Given the description of an element on the screen output the (x, y) to click on. 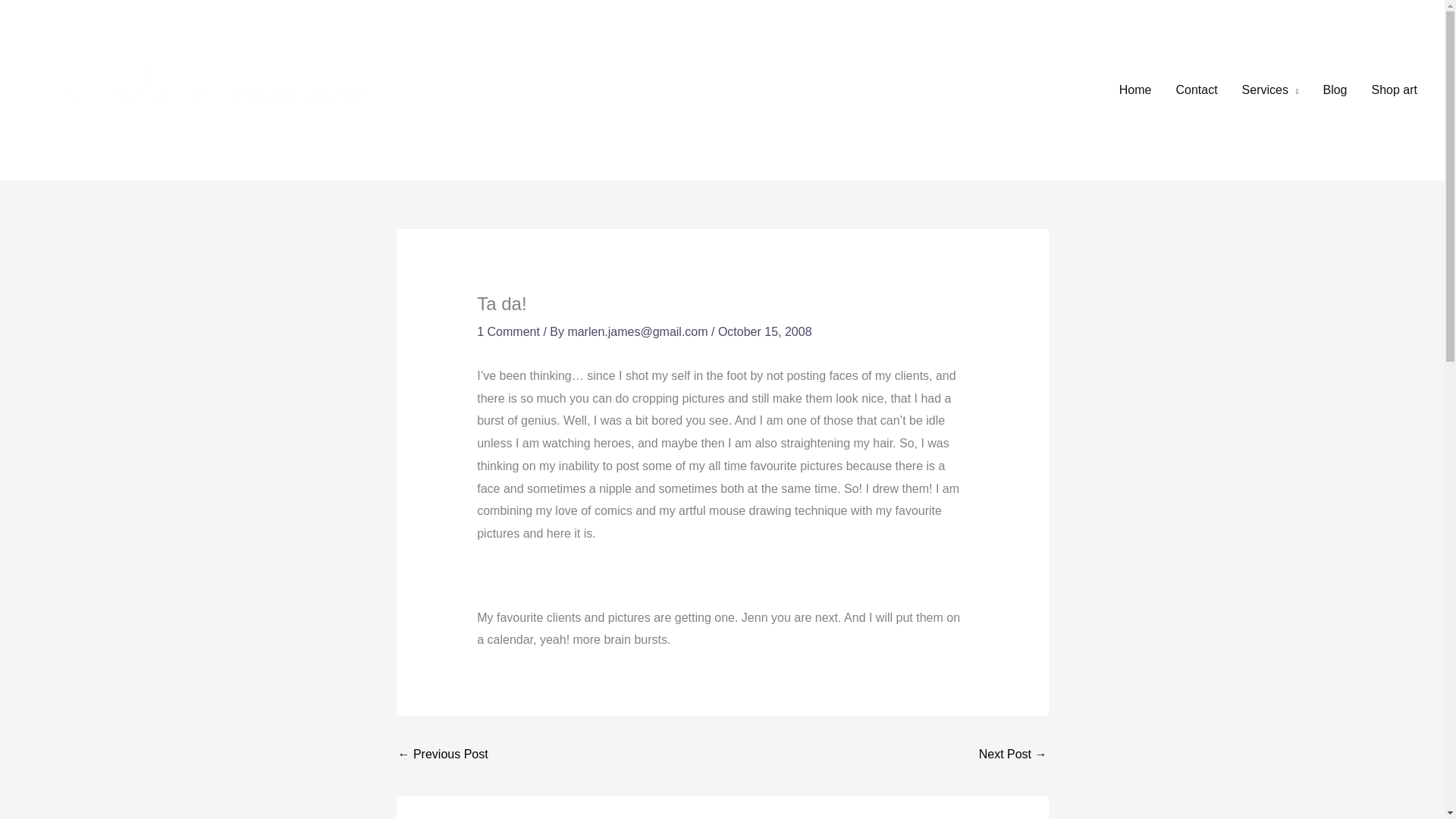
1 Comment (508, 331)
ha! I am done! (442, 755)
Contact (1195, 90)
Home (1134, 90)
Shop art (1394, 90)
Blog (1334, 90)
Services (1270, 90)
Lace and lipstick (1012, 755)
